Given the description of an element on the screen output the (x, y) to click on. 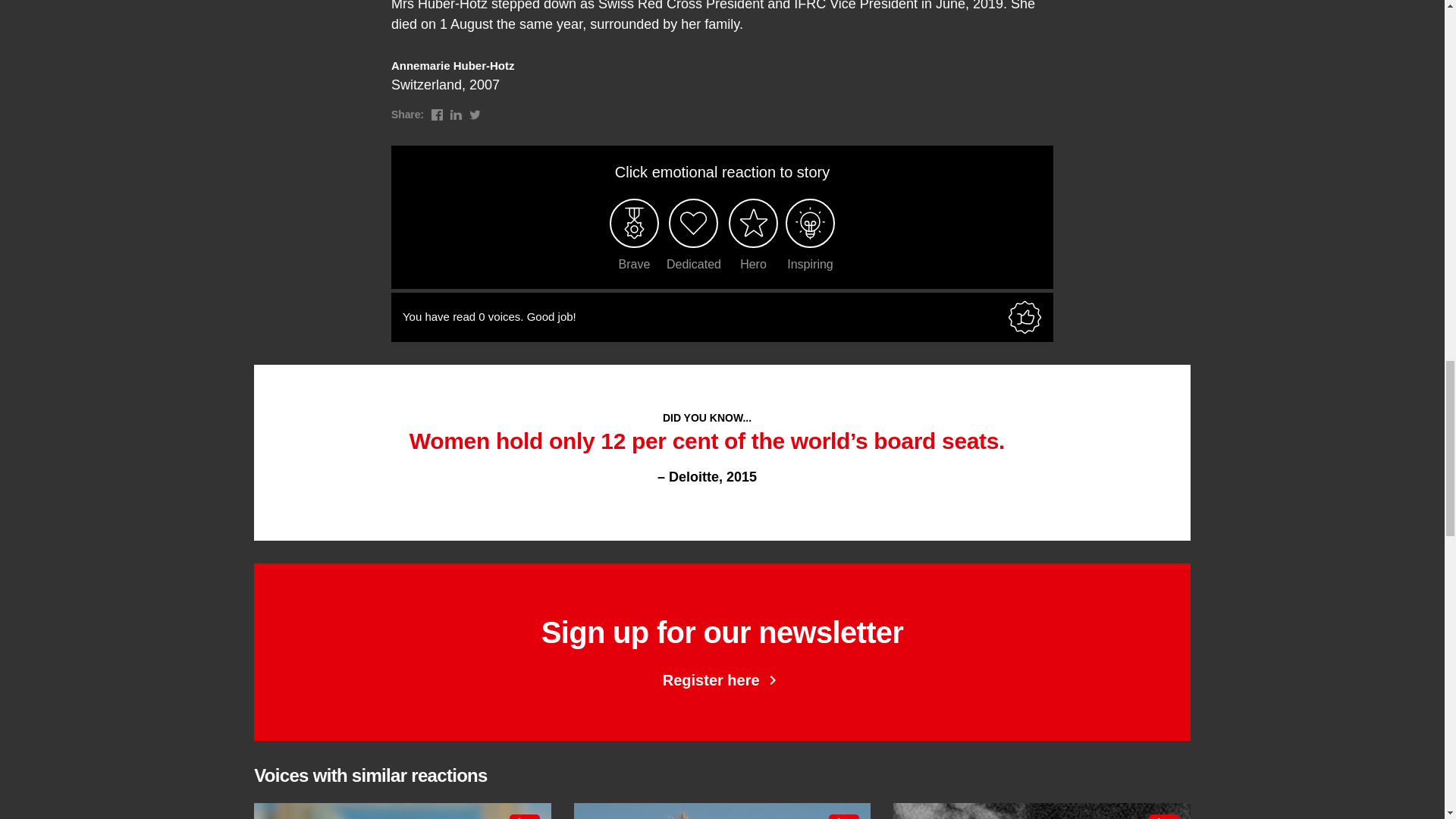
Inspiring (809, 223)
Alice Favre (1041, 811)
Hero (1041, 811)
Passionate (838, 817)
Hero (692, 223)
Felicity Gapes (752, 222)
Edvina Bihorac (721, 811)
Hero (401, 811)
Register here (721, 811)
Hero (1159, 817)
